Given the description of an element on the screen output the (x, y) to click on. 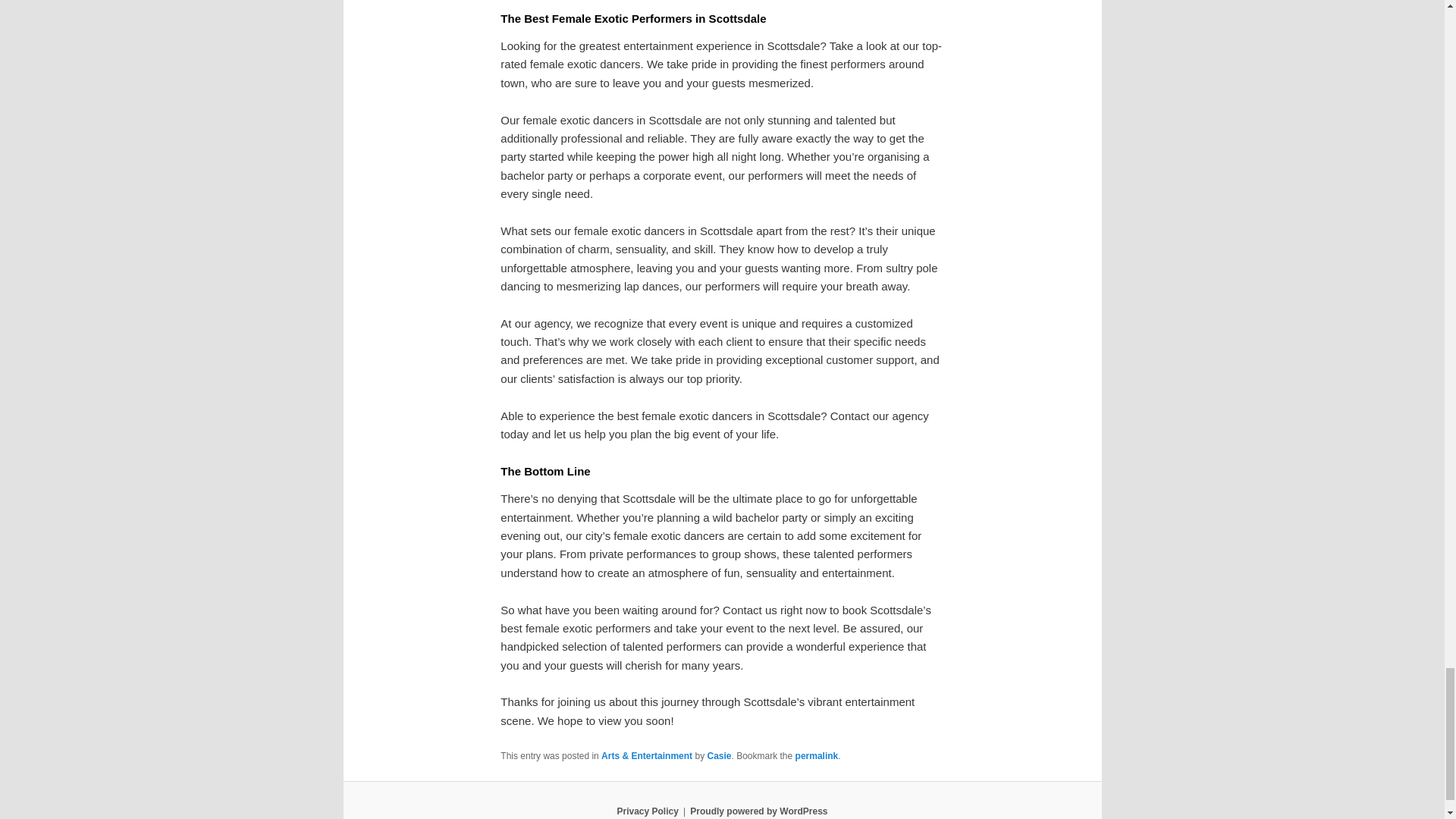
Casie (718, 756)
Proudly powered by WordPress (758, 810)
Semantic Personal Publishing Platform (758, 810)
permalink (816, 756)
Permalink to Exclusive Scottsdale Female Stripper Agency (816, 756)
Privacy Policy (646, 810)
